Given the description of an element on the screen output the (x, y) to click on. 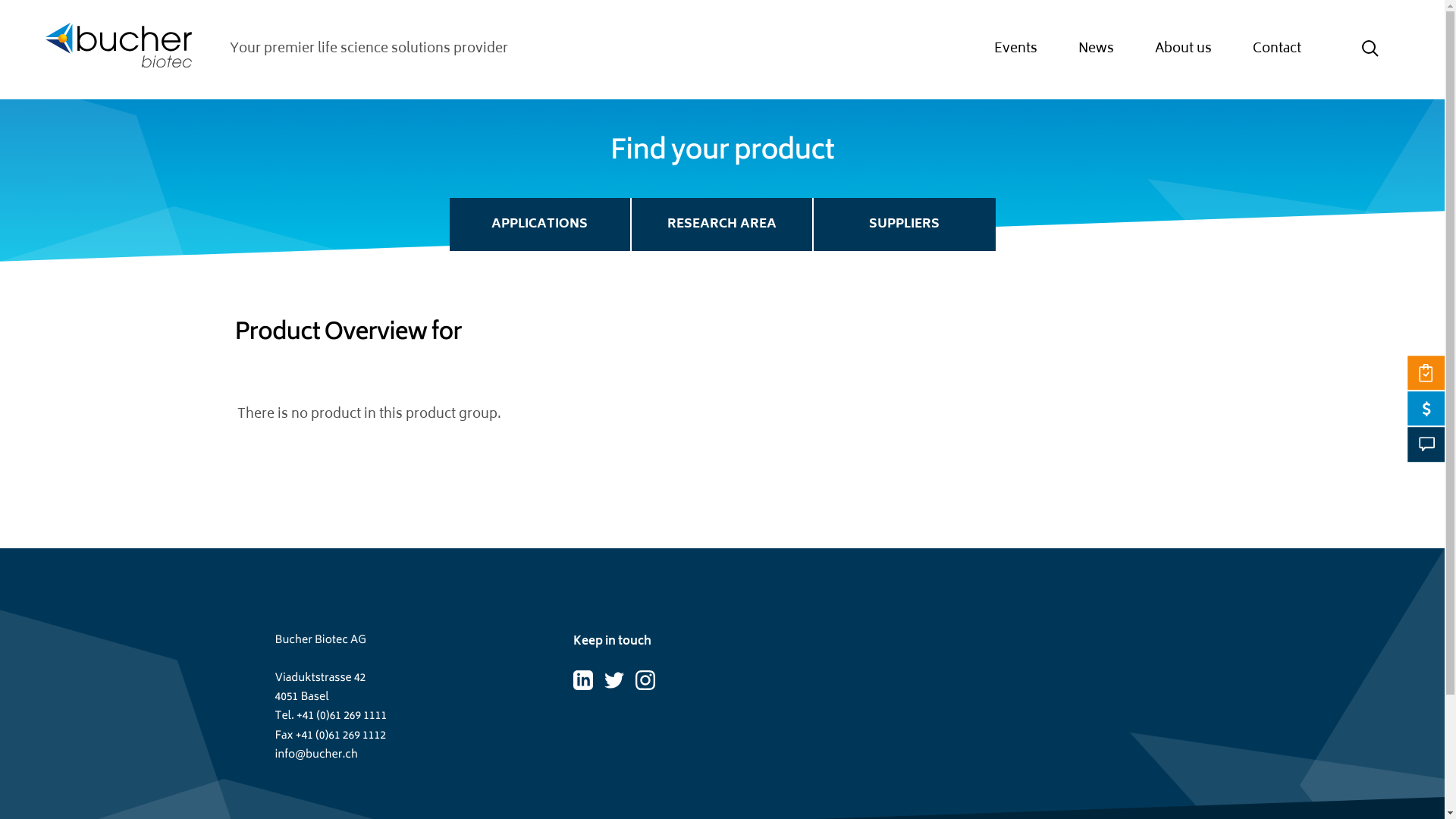
About us Element type: text (1182, 48)
APPLICATIONS Element type: text (539, 224)
RESEARCH AREA Element type: text (721, 224)
SUPPLIERS Element type: text (903, 224)
News Element type: text (1095, 48)
Search Element type: text (1369, 48)
Events Element type: text (1015, 48)
Contact Element type: text (1276, 48)
